Given the description of an element on the screen output the (x, y) to click on. 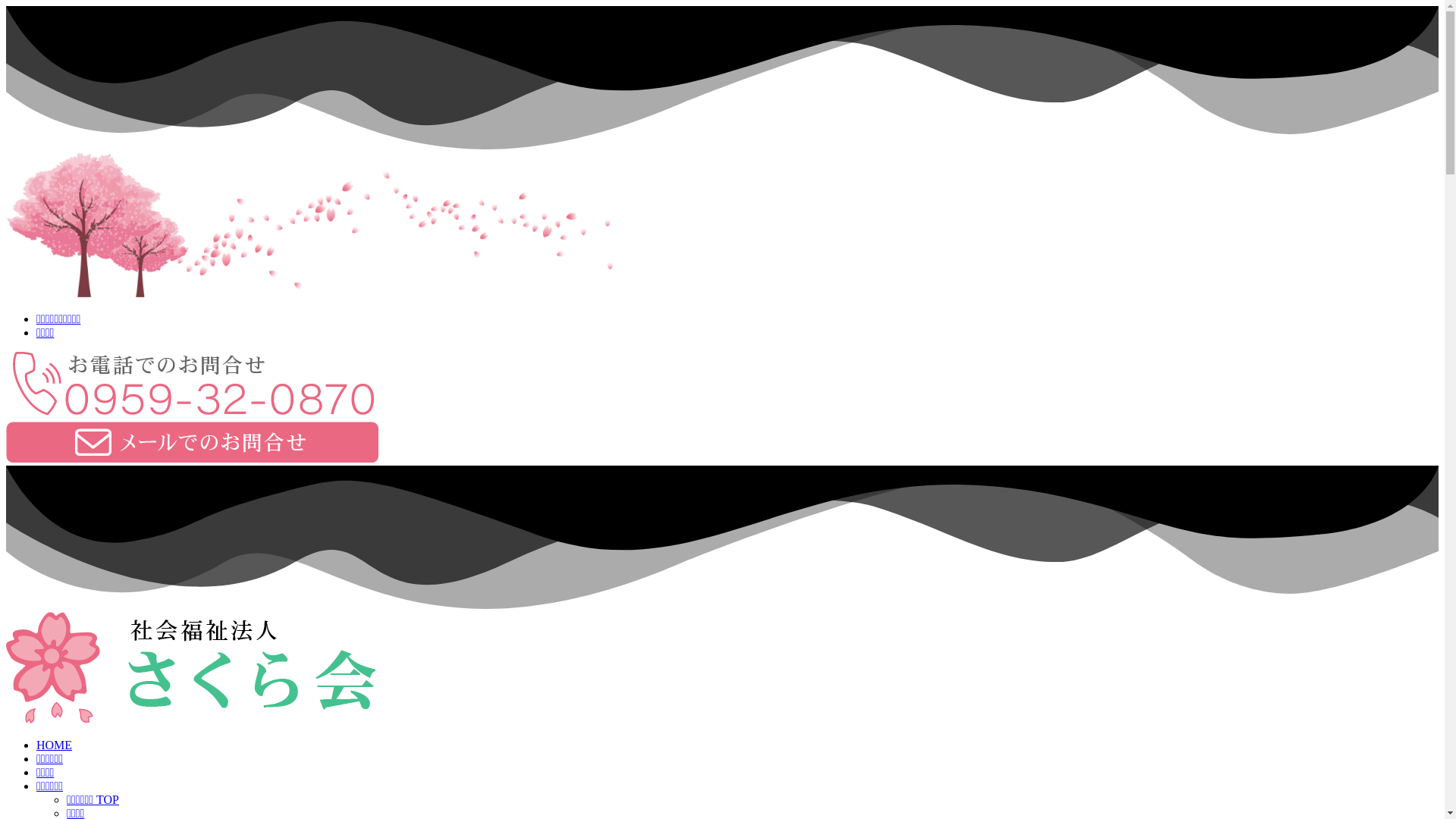
HOME Element type: text (54, 744)
